Given the description of an element on the screen output the (x, y) to click on. 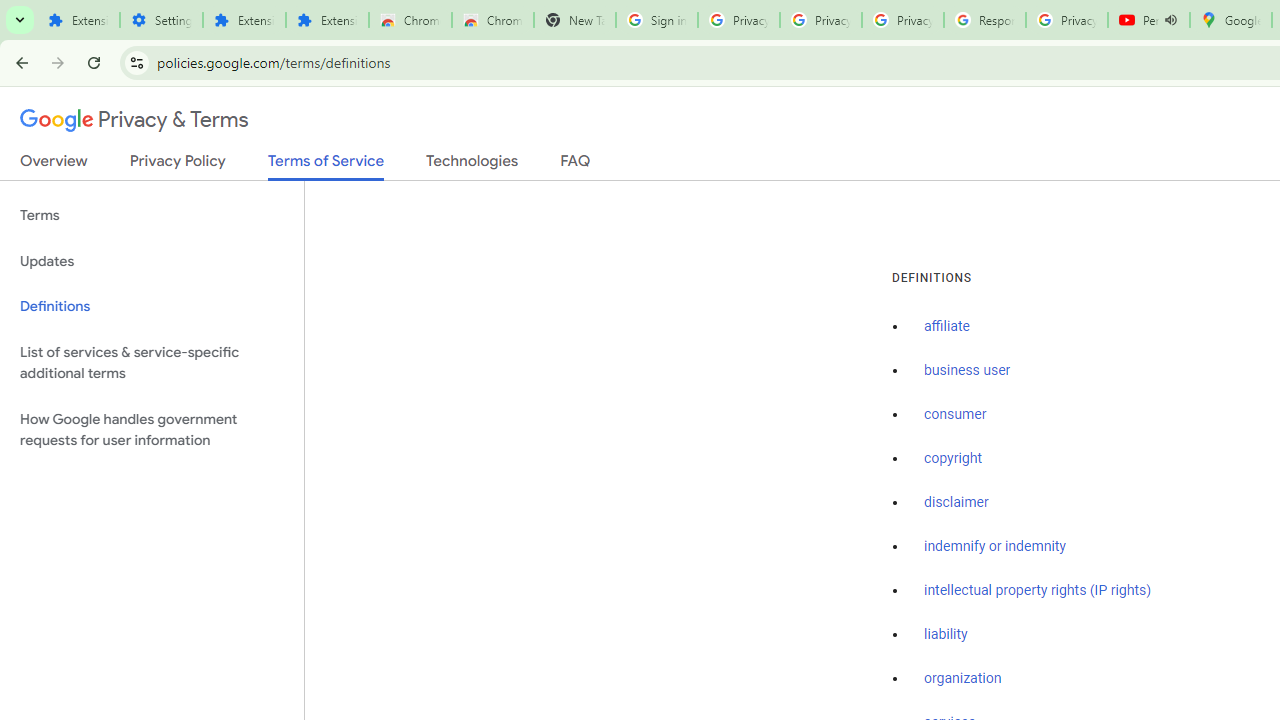
disclaimer (956, 502)
consumer (955, 415)
affiliate (947, 327)
Mute tab (1170, 20)
New Tab (574, 20)
organization (963, 679)
Sign in - Google Accounts (656, 20)
